Given the description of an element on the screen output the (x, y) to click on. 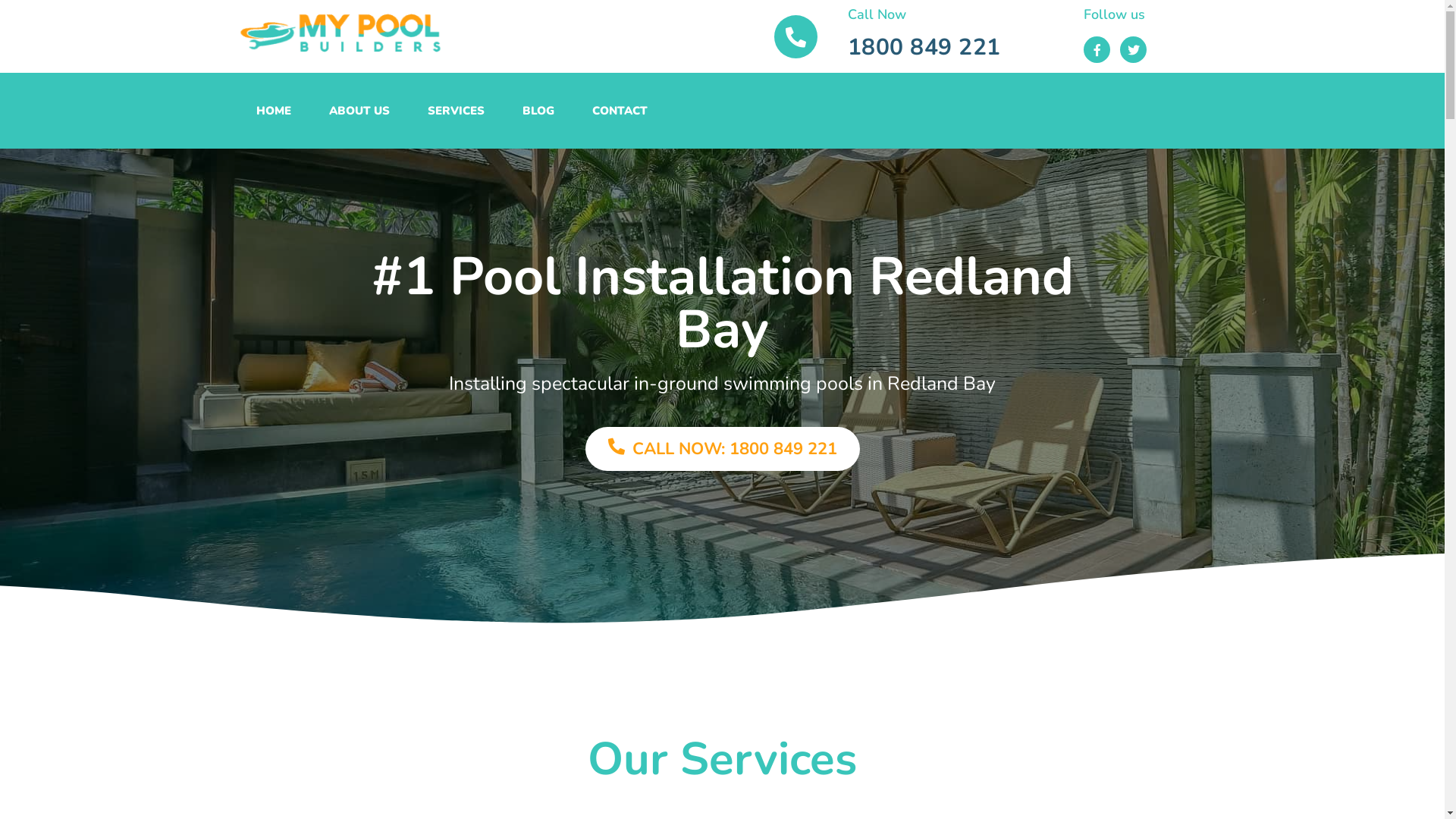
1800 849 221 Element type: text (924, 46)
ABOUT US Element type: text (358, 110)
HOME Element type: text (272, 110)
SERVICES Element type: text (454, 110)
CALL NOW: 1800 849 221 Element type: text (722, 448)
CONTACT Element type: text (619, 110)
BLOG Element type: text (538, 110)
